Given the description of an element on the screen output the (x, y) to click on. 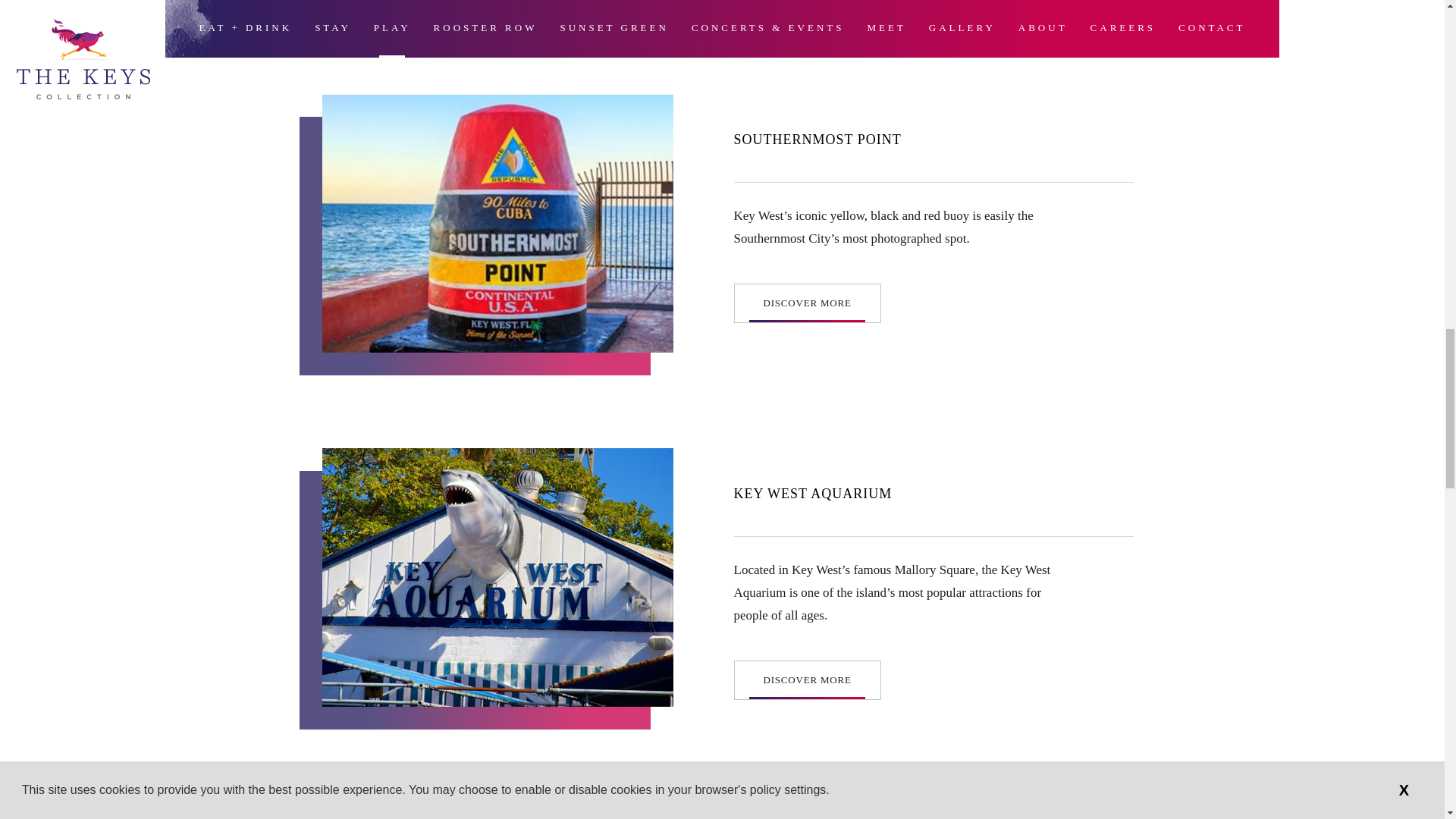
Discover More (806, 302)
Discover More (806, 680)
SOUTHERNMOST POINT (817, 139)
DISCOVER MORE (806, 302)
KEY WEST AQUARIUM (812, 493)
DISCOVER MORE (806, 680)
